Given the description of an element on the screen output the (x, y) to click on. 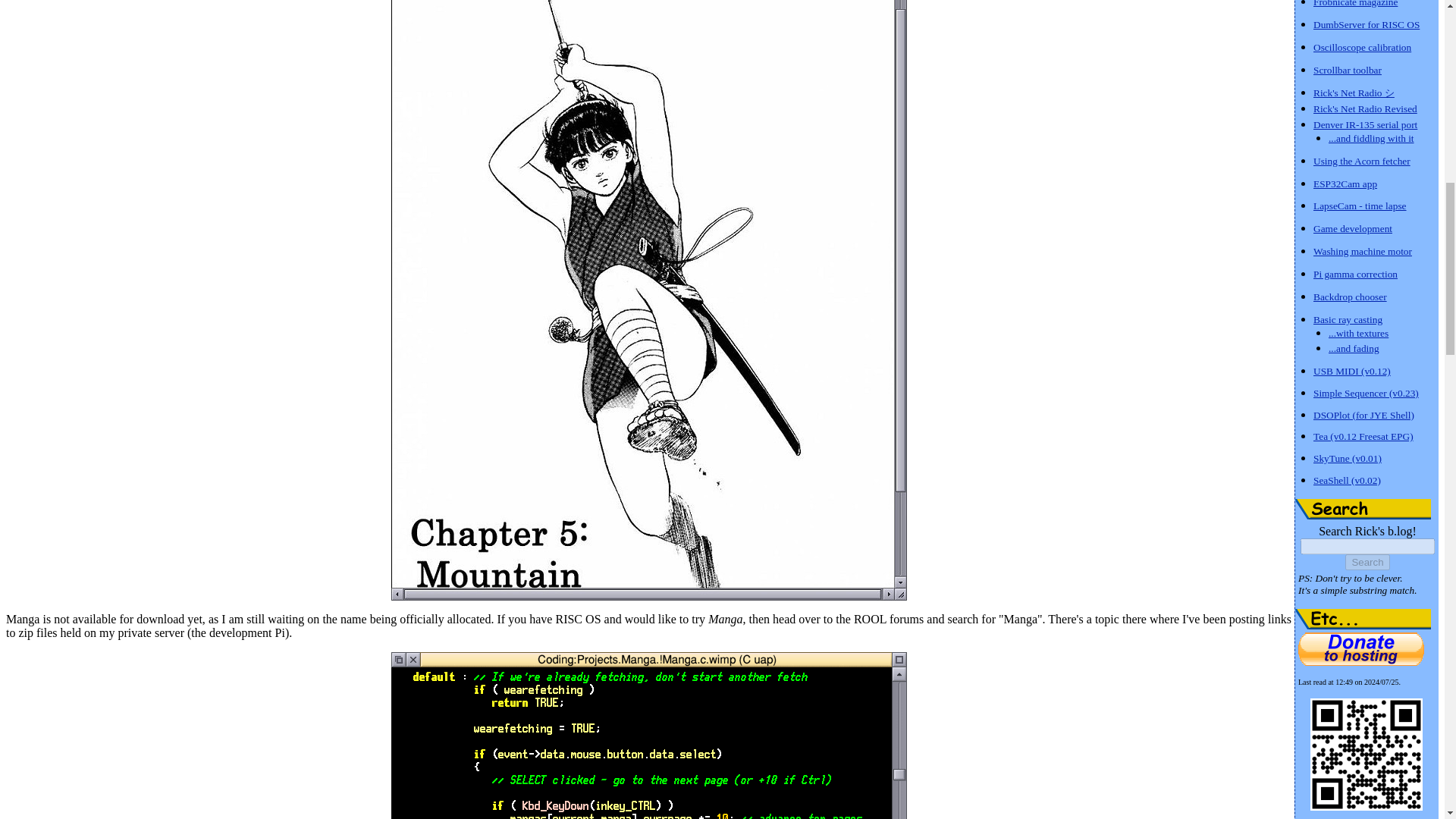
Etc... (1363, 619)
DumbServer for RISC OS (1366, 23)
Oscilloscope calibration (1361, 46)
Frobnicate magazine (1355, 3)
Search (1363, 508)
Search (1367, 562)
